Given the description of an element on the screen output the (x, y) to click on. 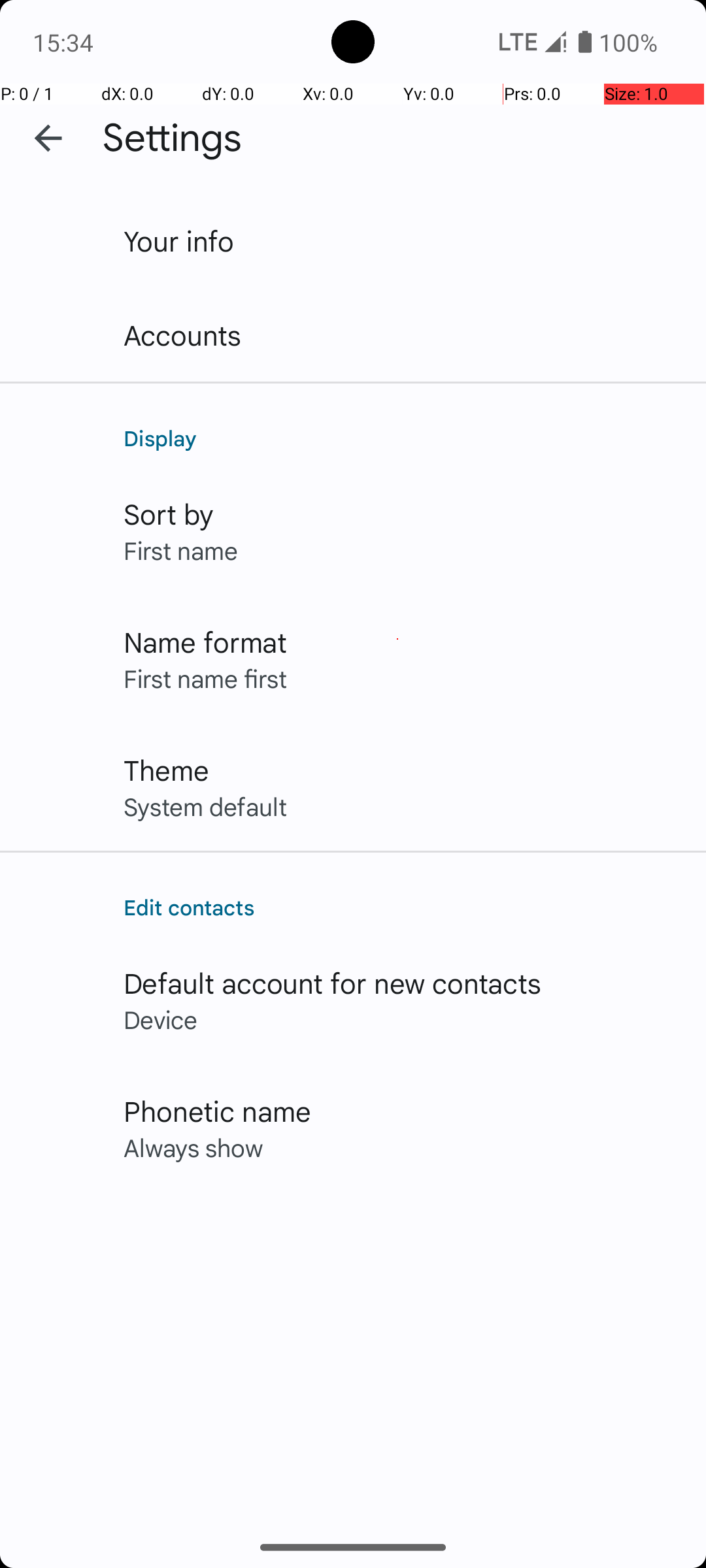
Your info Element type: android.widget.TextView (178, 240)
Accounts Element type: android.widget.TextView (182, 334)
Display Element type: android.widget.TextView (400, 437)
Name format Element type: android.widget.TextView (205, 641)
First name first Element type: android.widget.TextView (204, 678)
Edit contacts Element type: android.widget.TextView (400, 906)
Default account for new contacts Element type: android.widget.TextView (332, 982)
Phonetic name Element type: android.widget.TextView (217, 1110)
Always show Element type: android.widget.TextView (192, 1147)
